Given the description of an element on the screen output the (x, y) to click on. 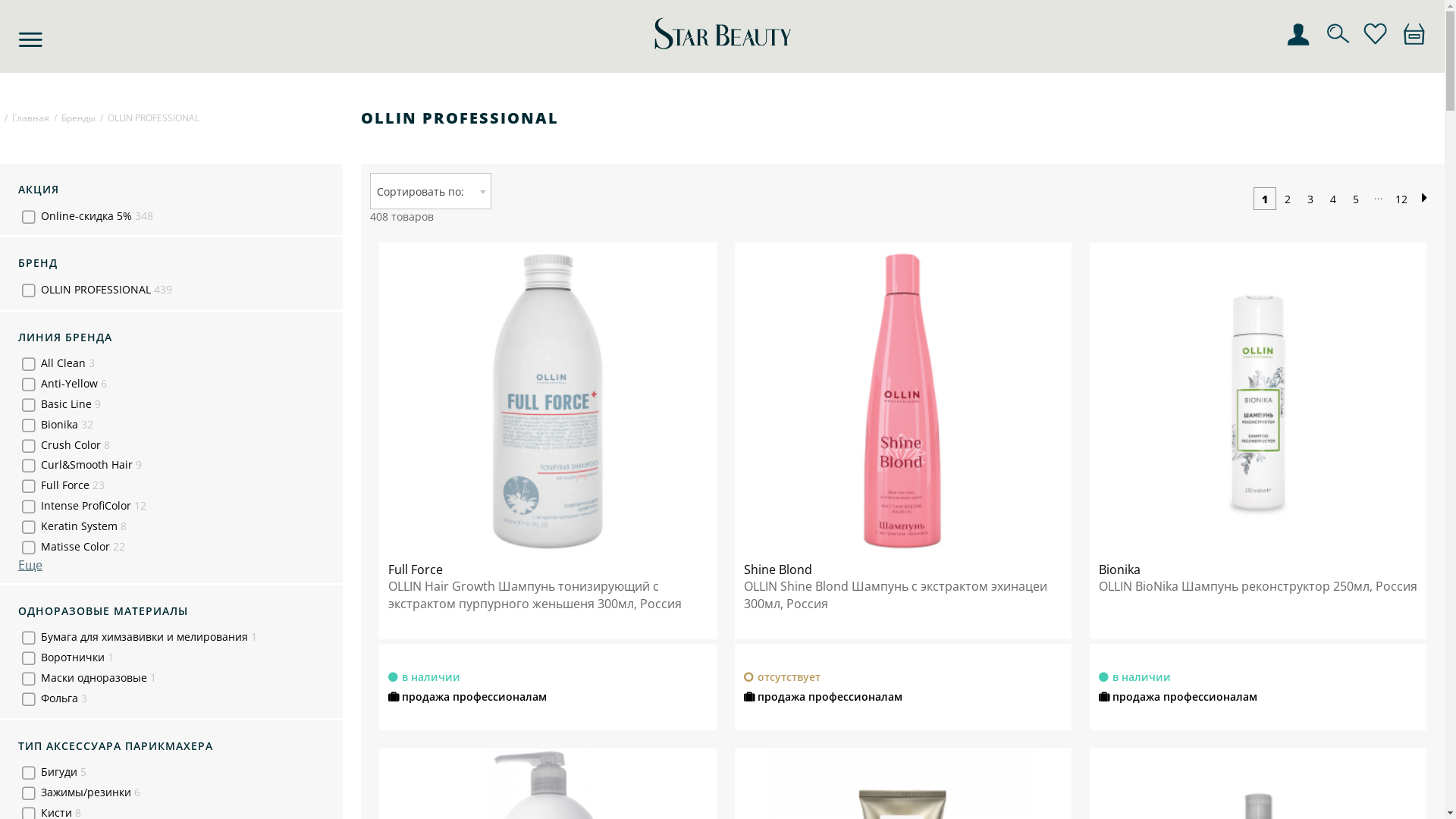
3 Element type: text (1310, 199)
2 Element type: text (1287, 199)
12 Element type: text (1401, 199)
4 Element type: text (1332, 199)
1 Element type: text (1264, 199)
5 Element type: text (1355, 199)
OLLIN PROFESSIONAL Element type: text (153, 117)
